Given the description of an element on the screen output the (x, y) to click on. 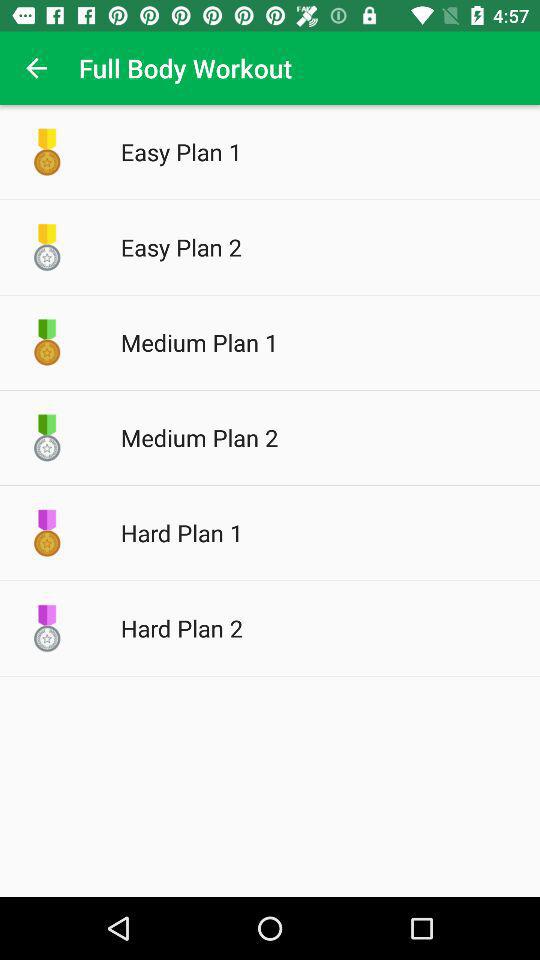
turn on item to the left of the full body workout app (36, 68)
